Given the description of an element on the screen output the (x, y) to click on. 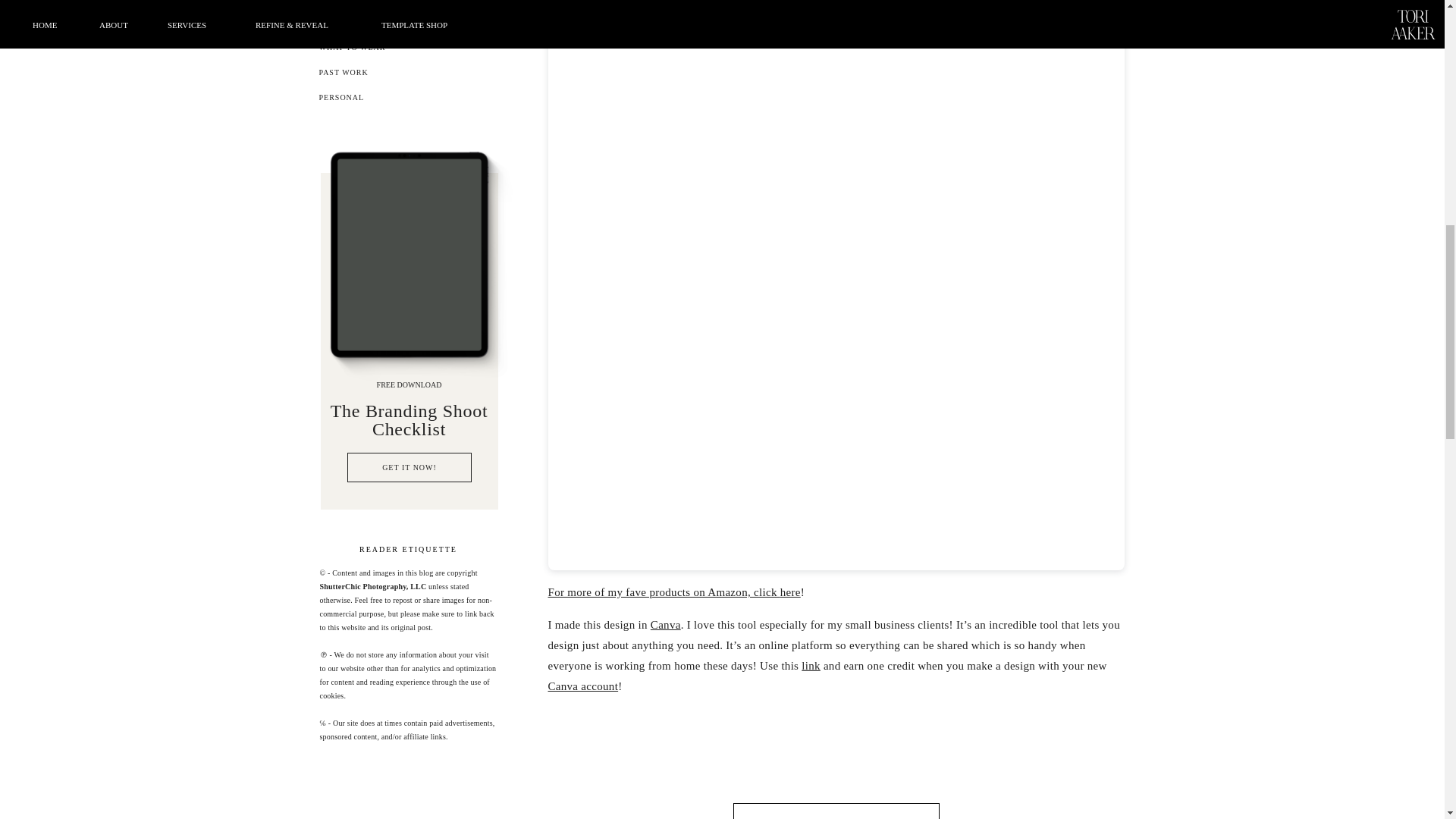
BRANDING PHOTOS (407, 26)
PAST WORK (407, 75)
READER ETIQUETTE (408, 549)
PERSONAL (407, 100)
WHAT TO WEAR (407, 50)
GET IT NOW! (409, 470)
WEBSITE DESIGN (407, 4)
